Given the description of an element on the screen output the (x, y) to click on. 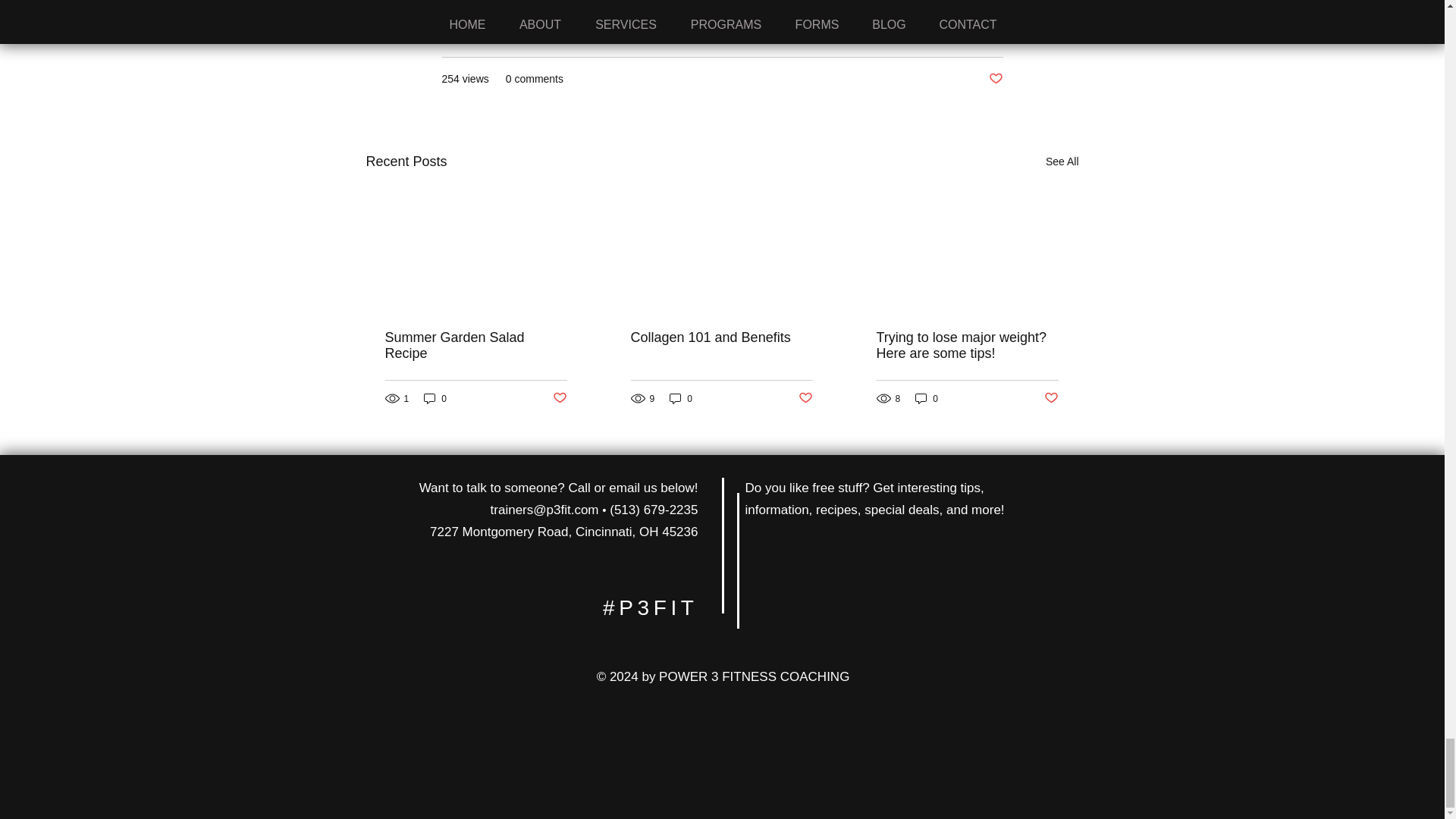
0 (681, 398)
Post not marked as liked (1050, 398)
0 (926, 398)
See All (1061, 161)
Post not marked as liked (995, 78)
Summer Garden Salad Recipe (476, 345)
Trying to lose major weight? Here are some tips! (967, 345)
0 (435, 398)
Post not marked as liked (558, 398)
Collagen 101 and Benefits (721, 337)
